Given the description of an element on the screen output the (x, y) to click on. 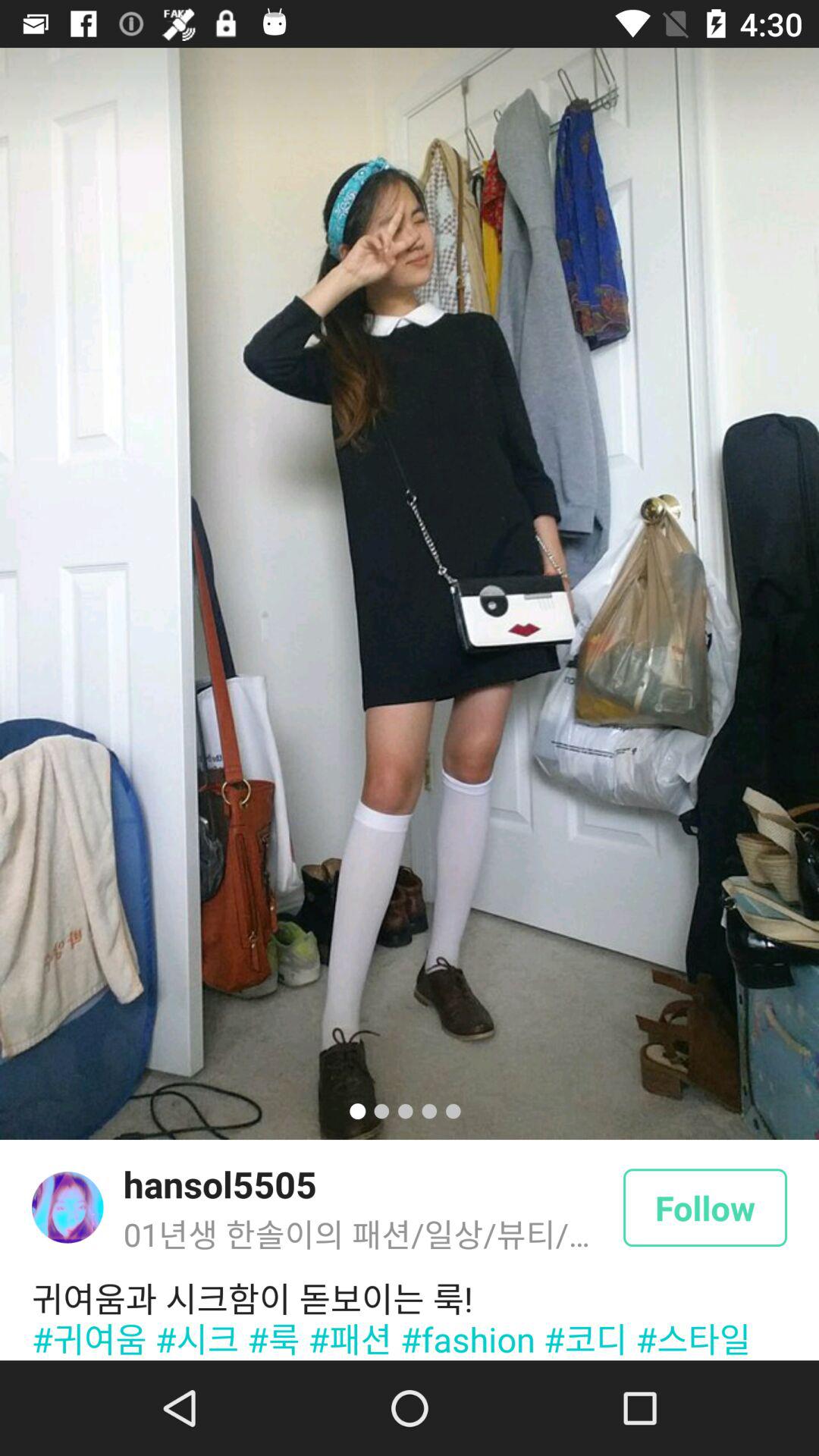
click icon above hansol5505 item (409, 593)
